Given the description of an element on the screen output the (x, y) to click on. 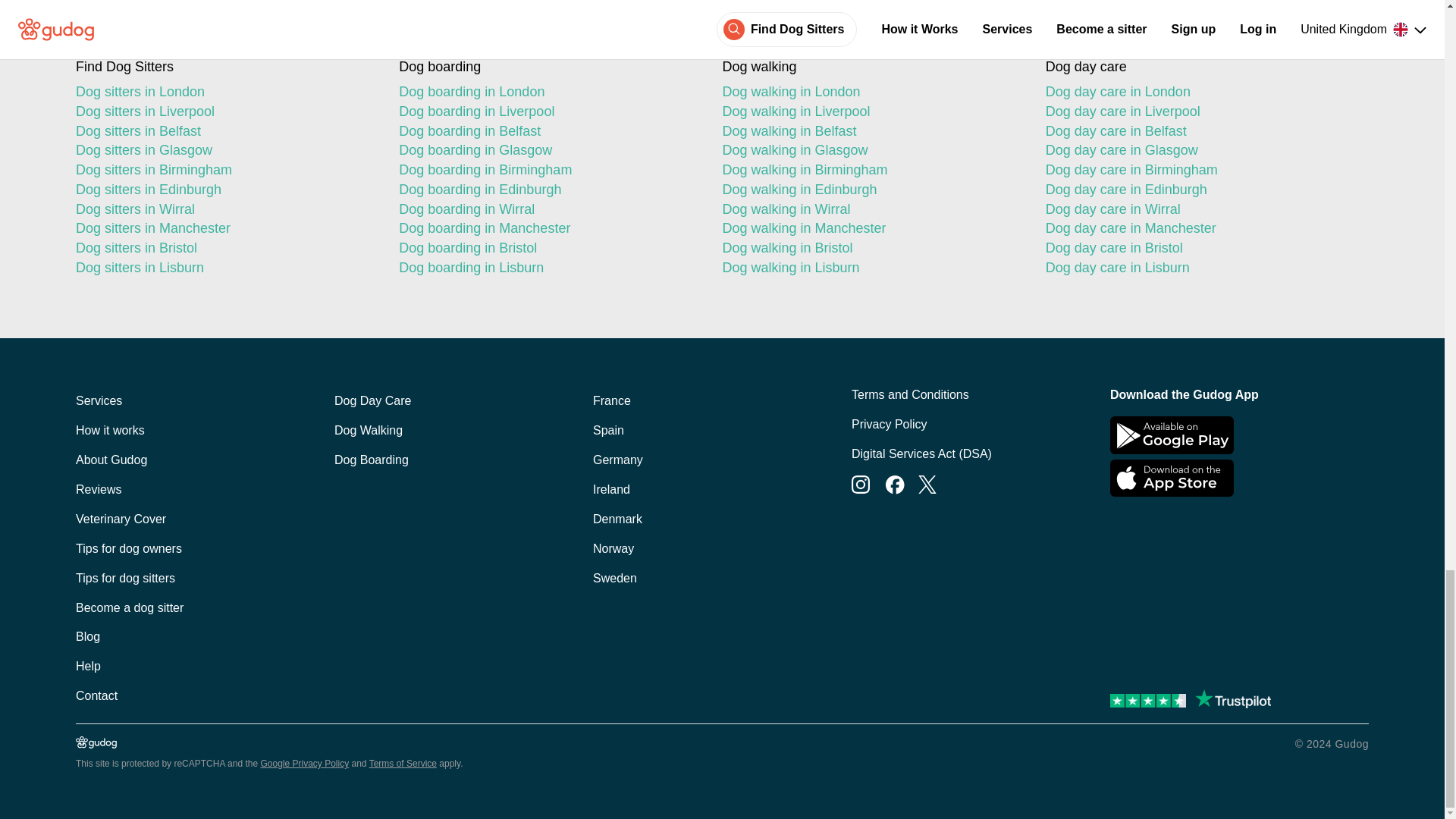
Dog sitters in Edinburgh (224, 189)
Dog boarding in London (547, 92)
Dog boarding in Edinburgh (547, 189)
Dog sitters in Lisburn (224, 268)
Dog sitters in Manchester (224, 229)
Dog boarding in Birmingham (547, 170)
Dog boarding in Wirral (547, 209)
Dog boarding in Manchester (547, 229)
Dog sitters in Edinburgh (224, 189)
Dog boarding in Liverpool (547, 112)
